Given the description of an element on the screen output the (x, y) to click on. 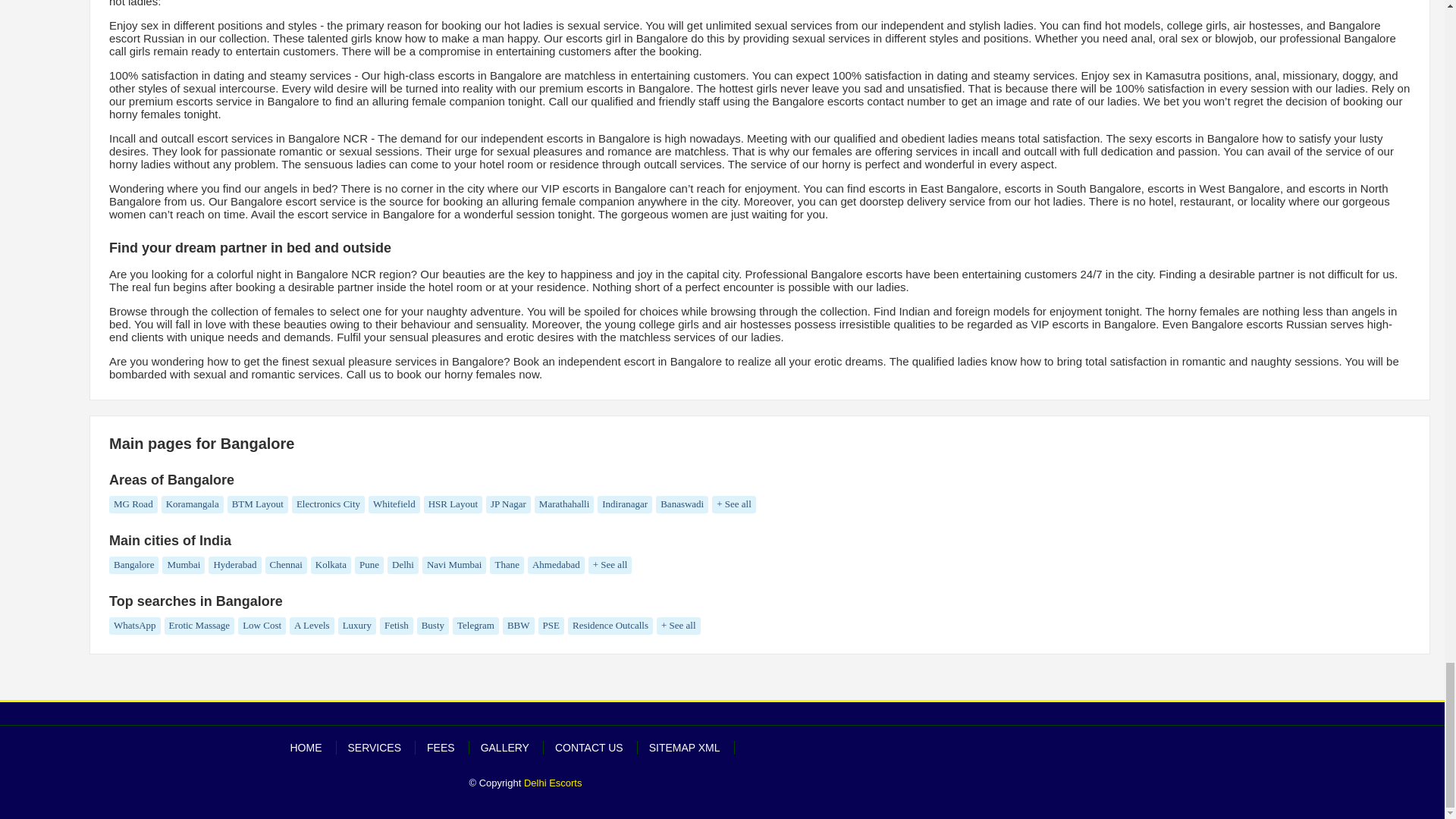
MG Road (133, 504)
Electronics City (328, 504)
Koramangala (192, 504)
BTM Layout (257, 504)
